Given the description of an element on the screen output the (x, y) to click on. 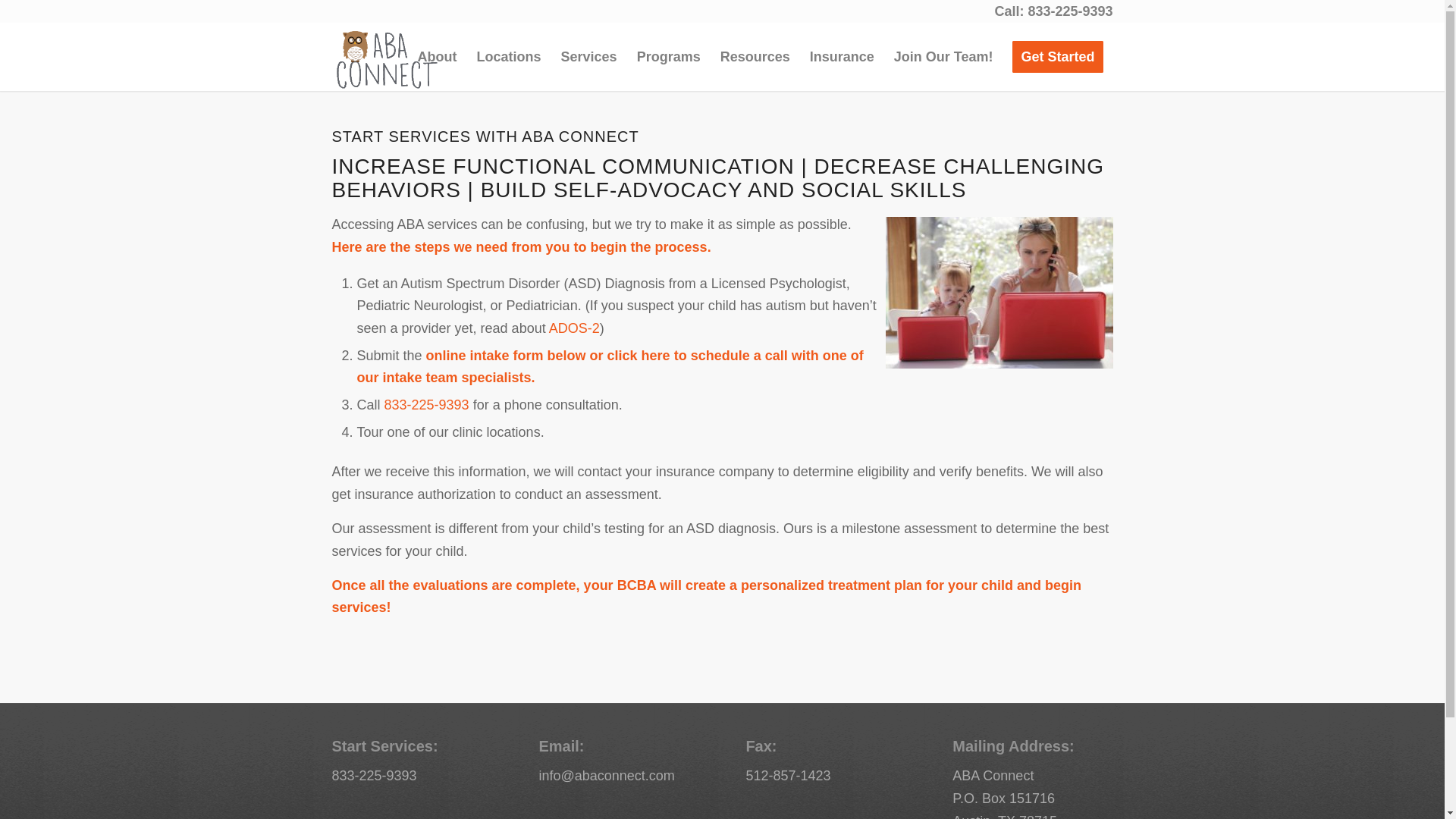
Get Started (1057, 56)
Join Our Team! (943, 56)
Resources (754, 56)
Locations (509, 56)
Call: 833-225-9393 (1053, 11)
ADOS-2 (573, 328)
833-225-9393 (426, 404)
Insurance (841, 56)
Programs (668, 56)
Services (589, 56)
